Given the description of an element on the screen output the (x, y) to click on. 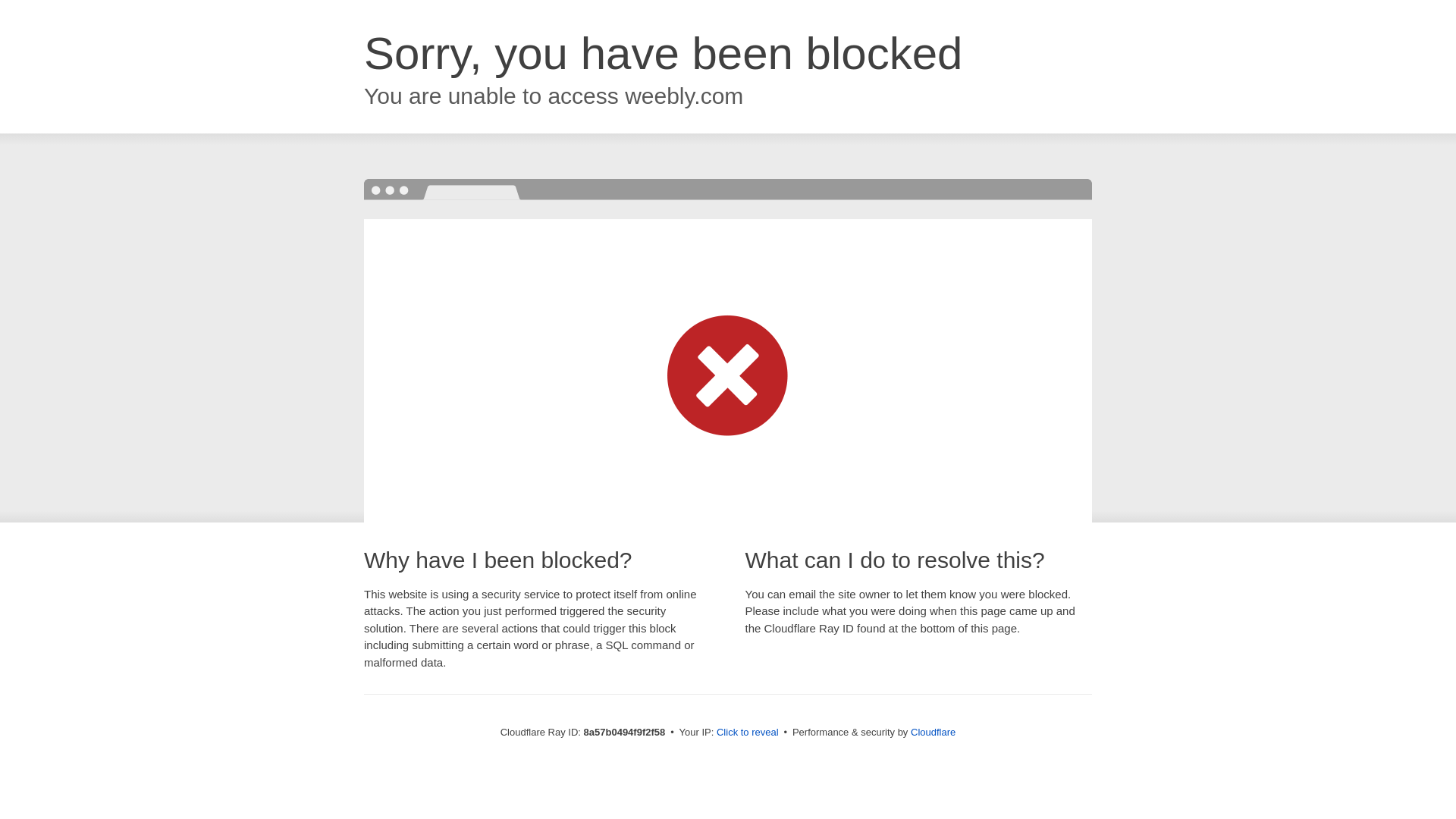
Cloudflare (933, 731)
Click to reveal (747, 732)
